Given the description of an element on the screen output the (x, y) to click on. 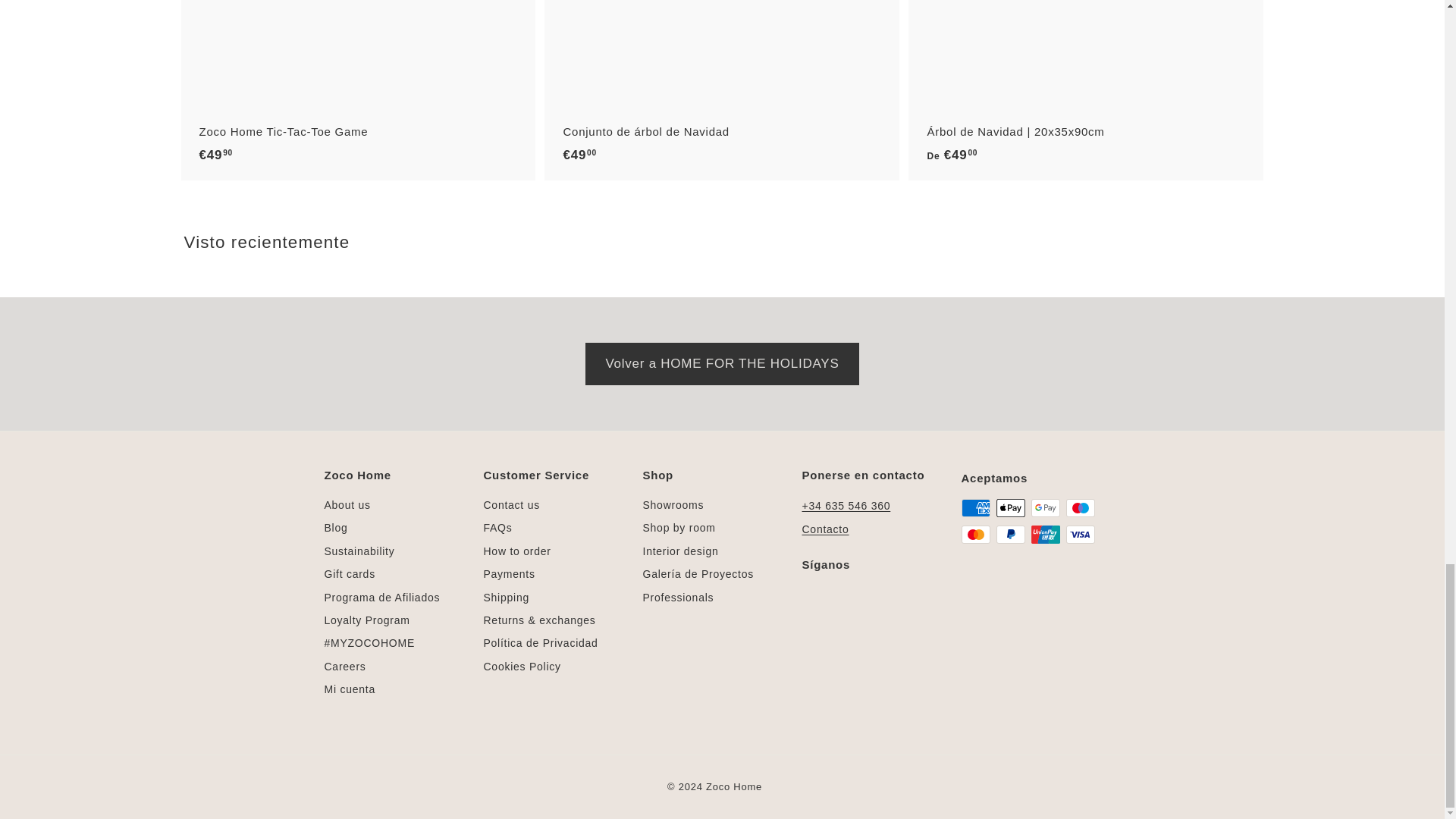
Union Pay (1044, 534)
Mastercard (975, 534)
Apple Pay (1010, 507)
Google Pay (1044, 507)
PayPal (1010, 534)
Visa (1079, 534)
American Express (975, 507)
Maestro (1079, 507)
